Given the description of an element on the screen output the (x, y) to click on. 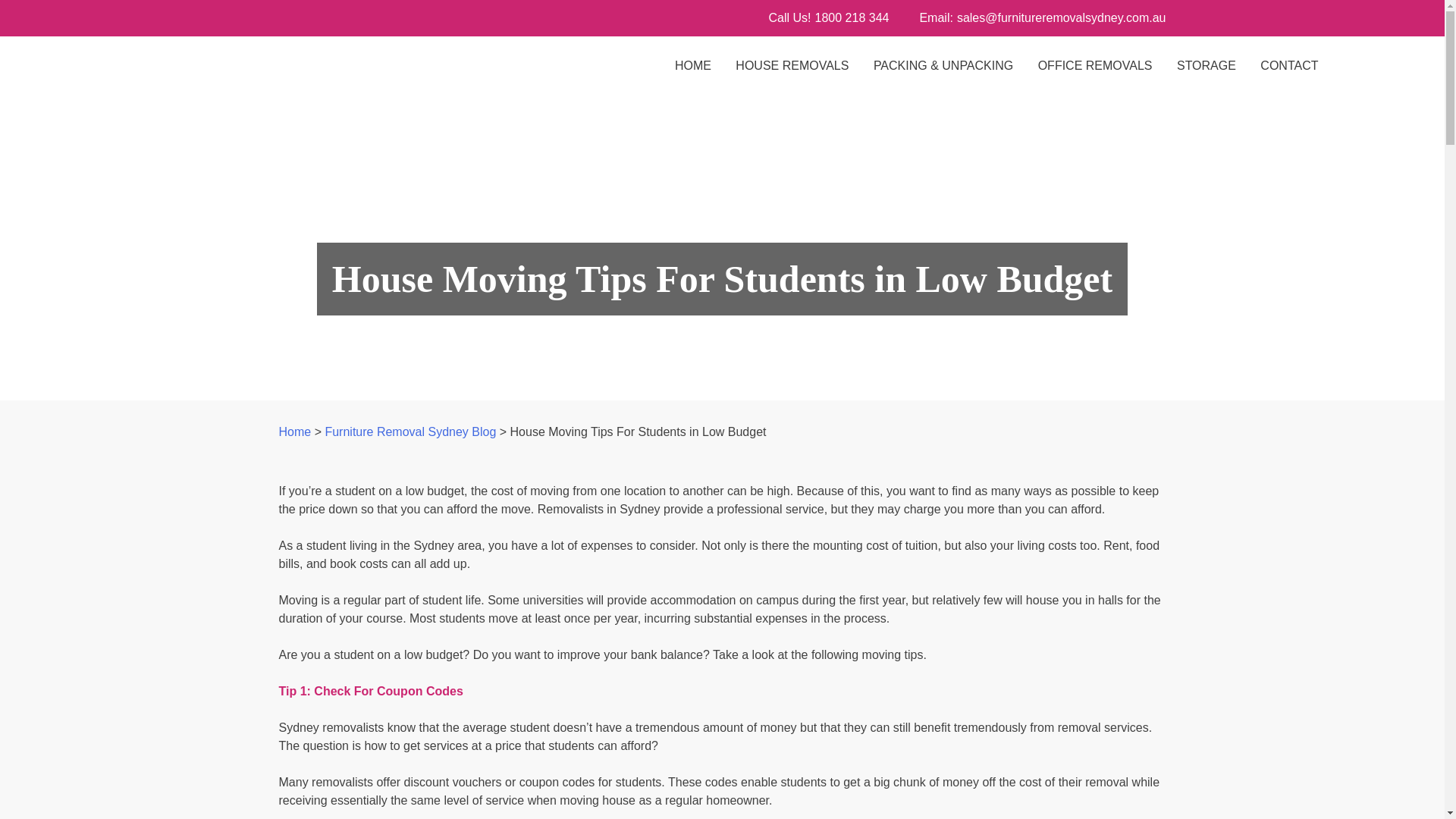
Furniture Removal Sydney Element type: text (186, 100)
CONTACT Element type: text (1288, 65)
Send Element type: text (171, 162)
STORAGE Element type: text (1206, 65)
PACKING & UNPACKING Element type: text (942, 65)
sales@furnitureremovalsydney.com.au Element type: text (1061, 17)
Furniture Removal Sydney Blog Element type: text (409, 431)
OFFICE REMOVALS Element type: text (1095, 65)
Home Element type: text (295, 431)
HOUSE REMOVALS Element type: text (791, 65)
House Moving Tips For Students on a Low Budget Element type: hover (722, 248)
HOME Element type: text (692, 65)
1800 218 344 Element type: text (852, 17)
